Given the description of an element on the screen output the (x, y) to click on. 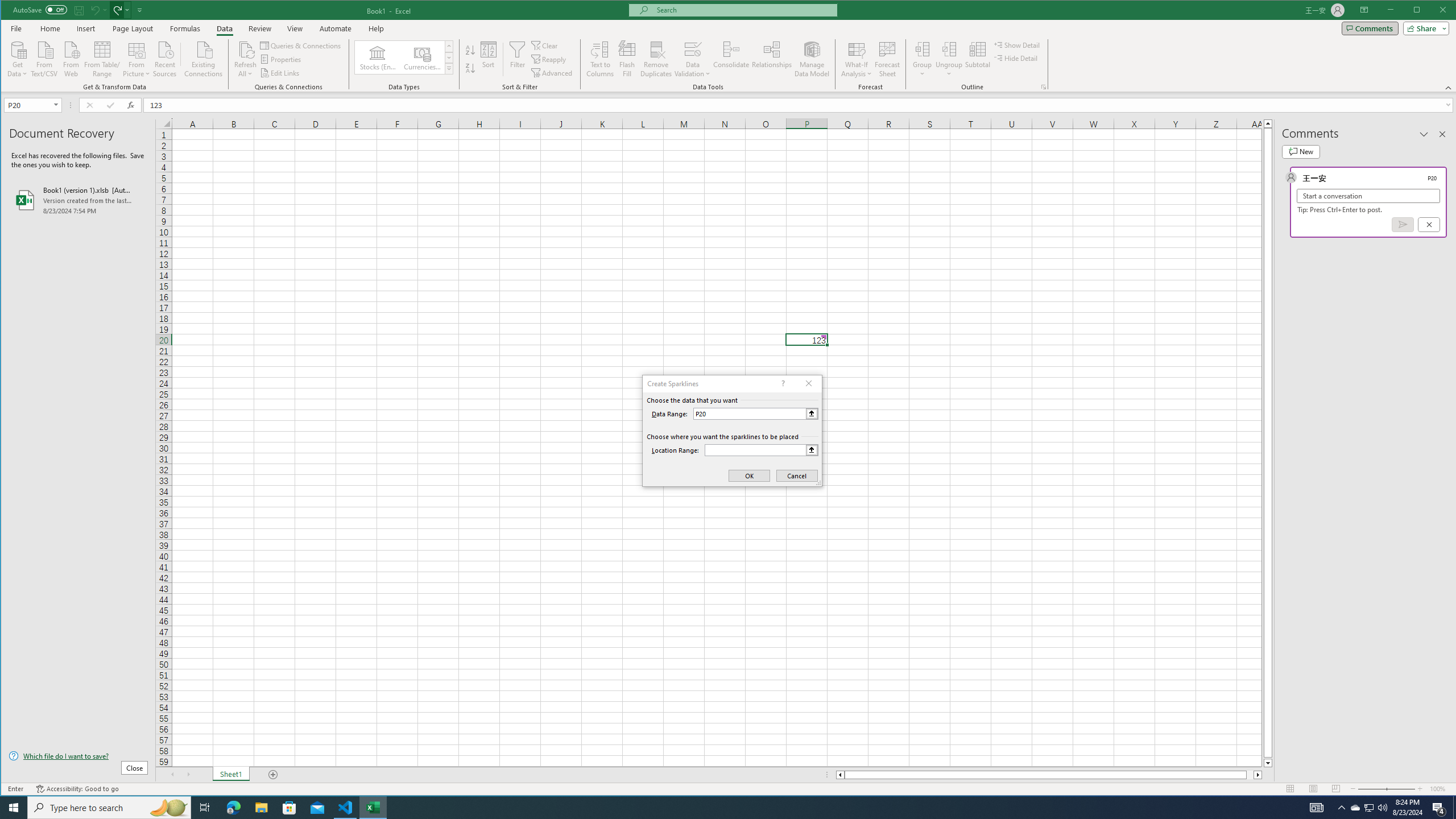
Recent Sources (164, 57)
Reapply (549, 59)
Refresh All (244, 59)
Automate (336, 28)
Ungroup... (948, 59)
Class: NetUIImage (448, 68)
Group and Outline Settings (1043, 86)
Post comment (Ctrl + Enter) (1402, 224)
